Given the description of an element on the screen output the (x, y) to click on. 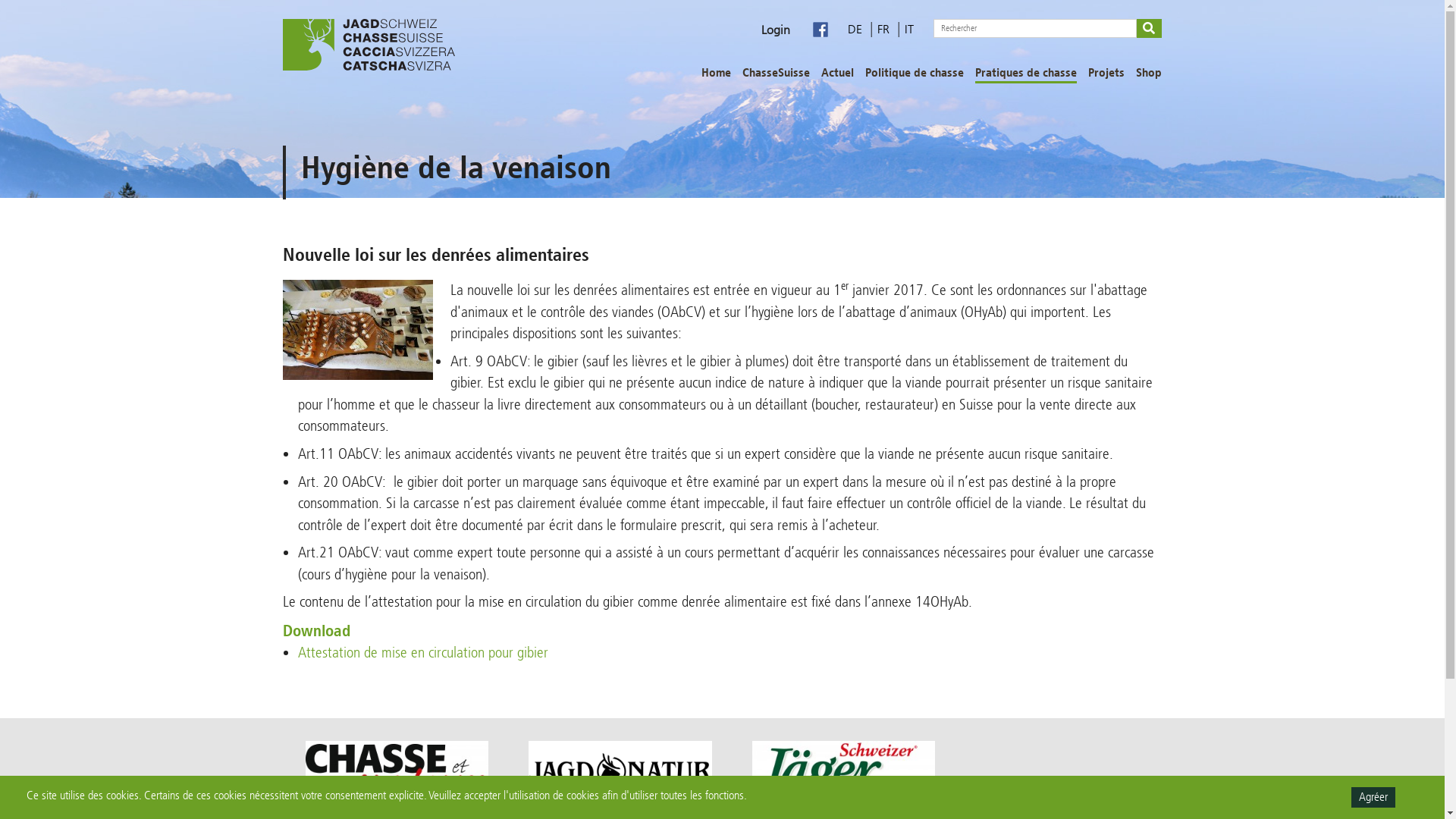
Home Element type: text (716, 74)
Projets Element type: text (1106, 74)
JagdSchweiz Element type: hover (368, 44)
Politique de chasse Element type: text (914, 74)
Actuel Element type: text (837, 74)
Login Element type: text (775, 29)
ChasseSuisse Element type: text (775, 74)
DE Element type: text (856, 28)
Shop Element type: text (1148, 74)
IT Element type: text (908, 28)
Pratiques de chasse Element type: text (1025, 74)
Attestation de mise en circulation pour gibier Element type: text (423, 652)
FR Element type: text (884, 28)
